Given the description of an element on the screen output the (x, y) to click on. 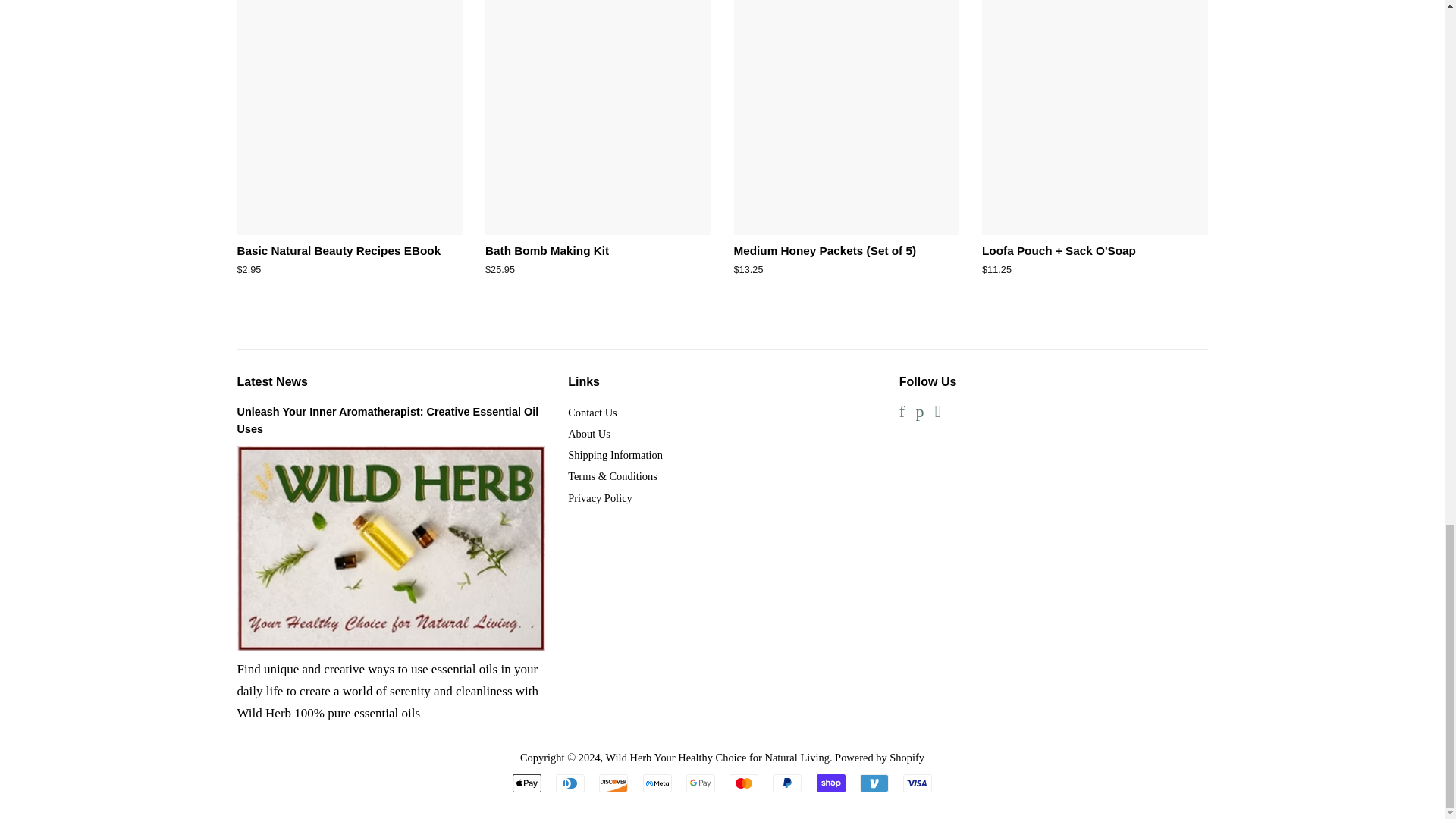
Visa (916, 782)
Diners Club (570, 782)
Google Pay (699, 782)
Mastercard (743, 782)
Apple Pay (526, 782)
Shop Pay (830, 782)
Venmo (874, 782)
PayPal (787, 782)
Meta Pay (657, 782)
Discover (612, 782)
